Given the description of an element on the screen output the (x, y) to click on. 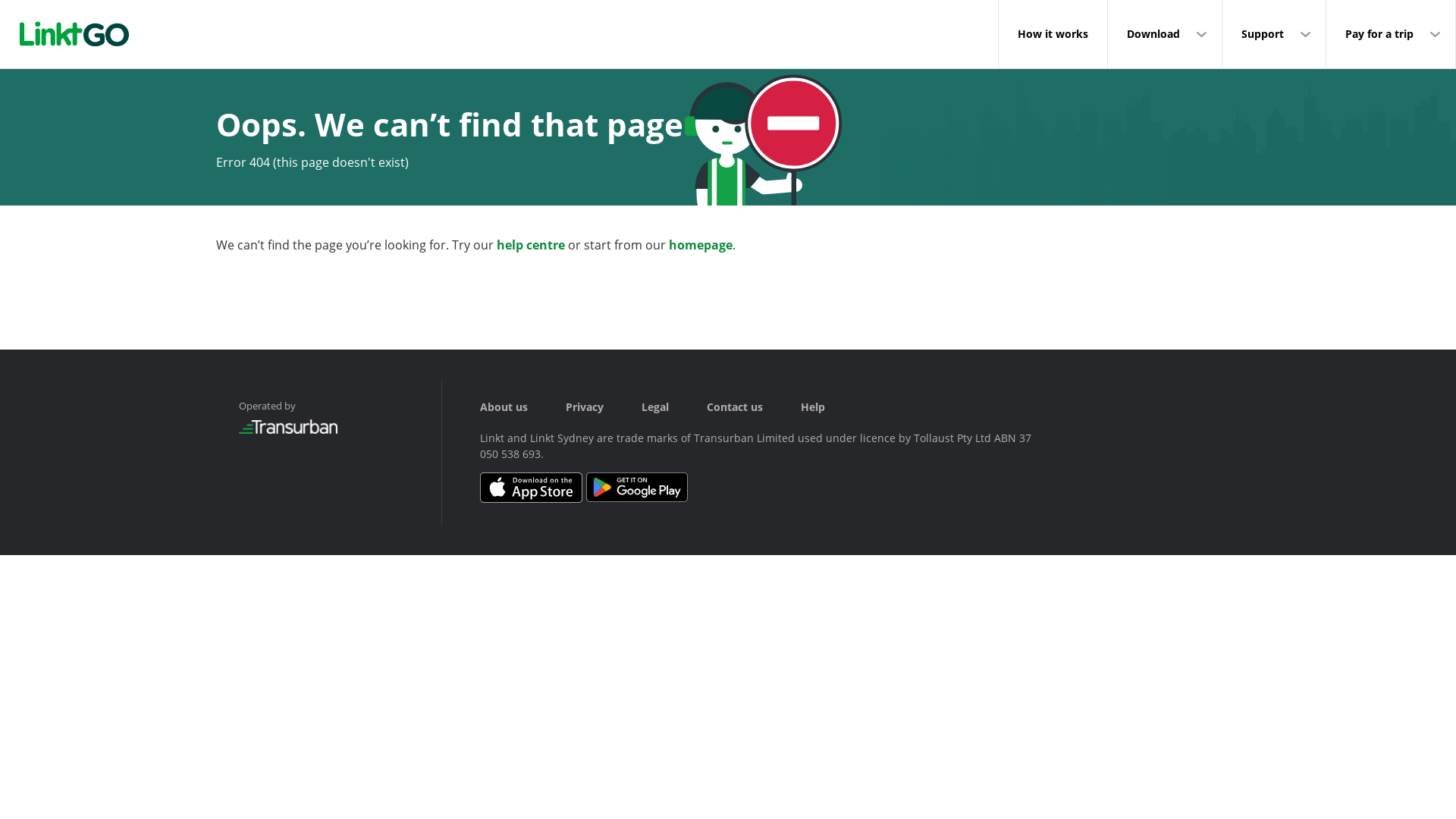
How it works Element type: text (1052, 34)
About us Element type: text (522, 406)
Support Element type: text (1273, 34)
Downlaod the LinktGO app on Google Play Element type: hover (637, 498)
Pay for a trip Element type: text (1390, 34)
Help Element type: text (831, 406)
Legal Element type: text (673, 406)
Download Element type: text (1164, 34)
homepage Element type: text (700, 244)
help centre Element type: text (530, 244)
Privacy Element type: text (603, 406)
Contact us Element type: text (753, 406)
Download the LinktGO app on the App Store Element type: hover (533, 498)
